Given the description of an element on the screen output the (x, y) to click on. 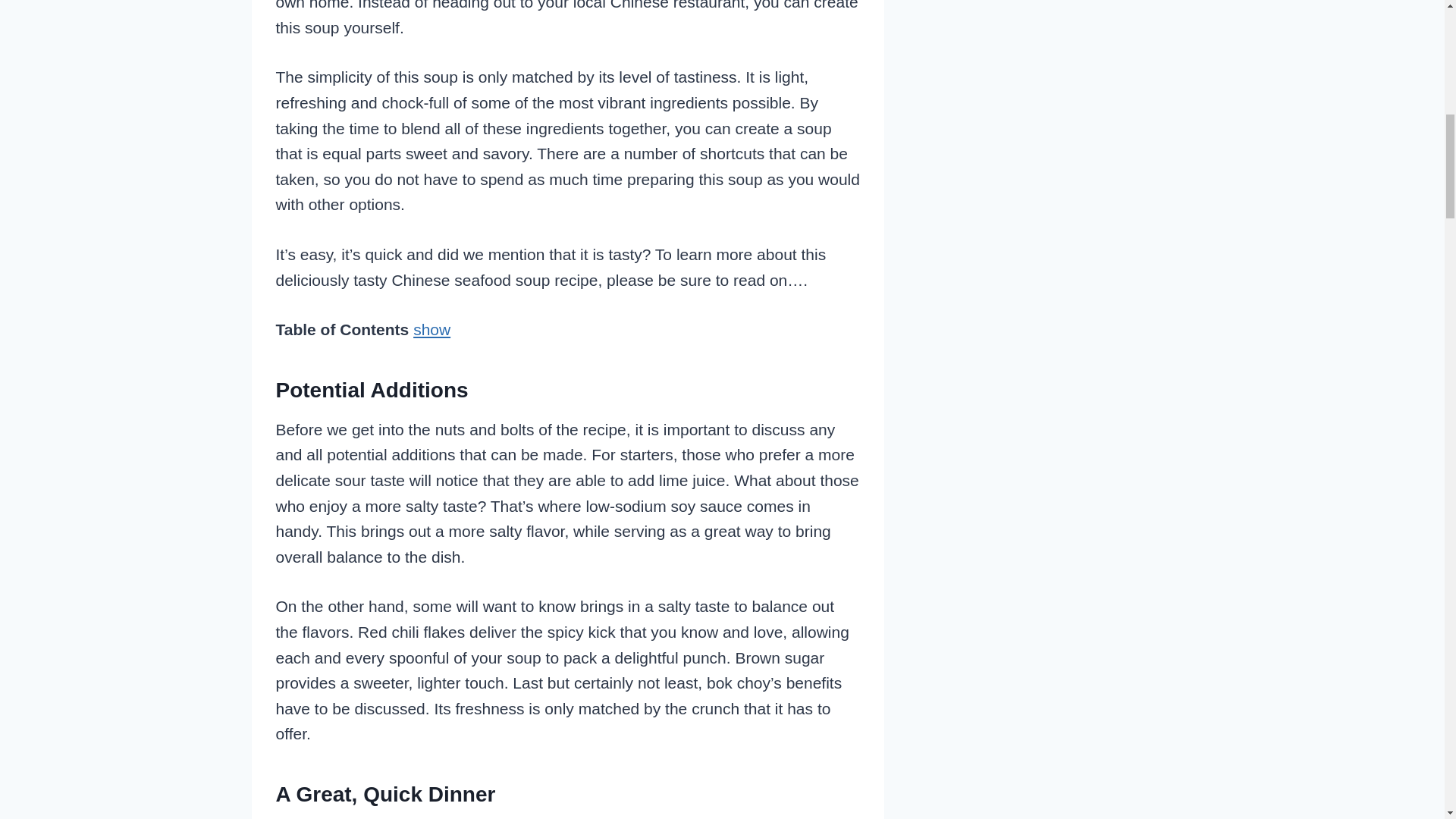
show (431, 329)
